Given the description of an element on the screen output the (x, y) to click on. 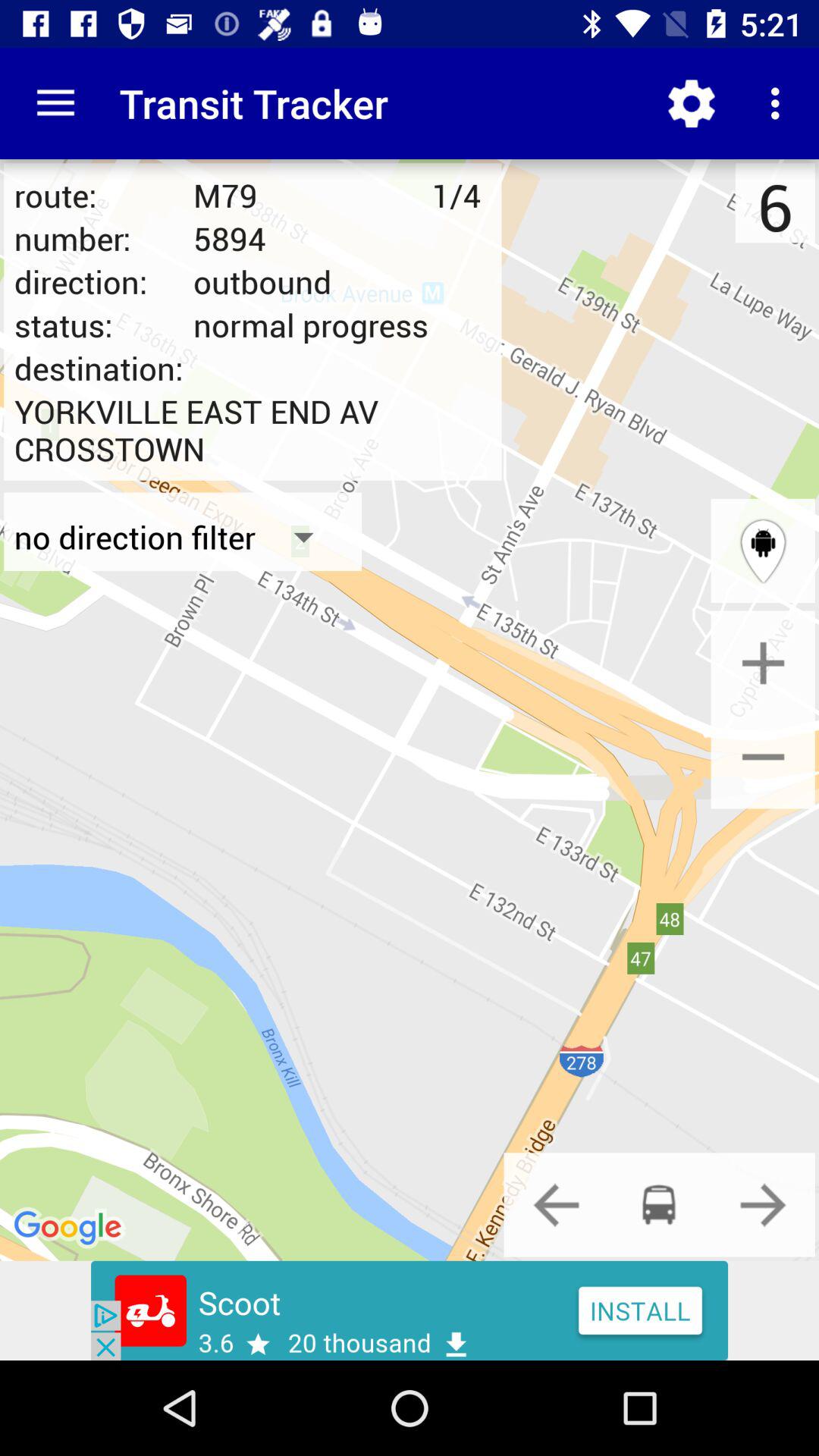
change mode of travel (555, 1204)
